Given the description of an element on the screen output the (x, y) to click on. 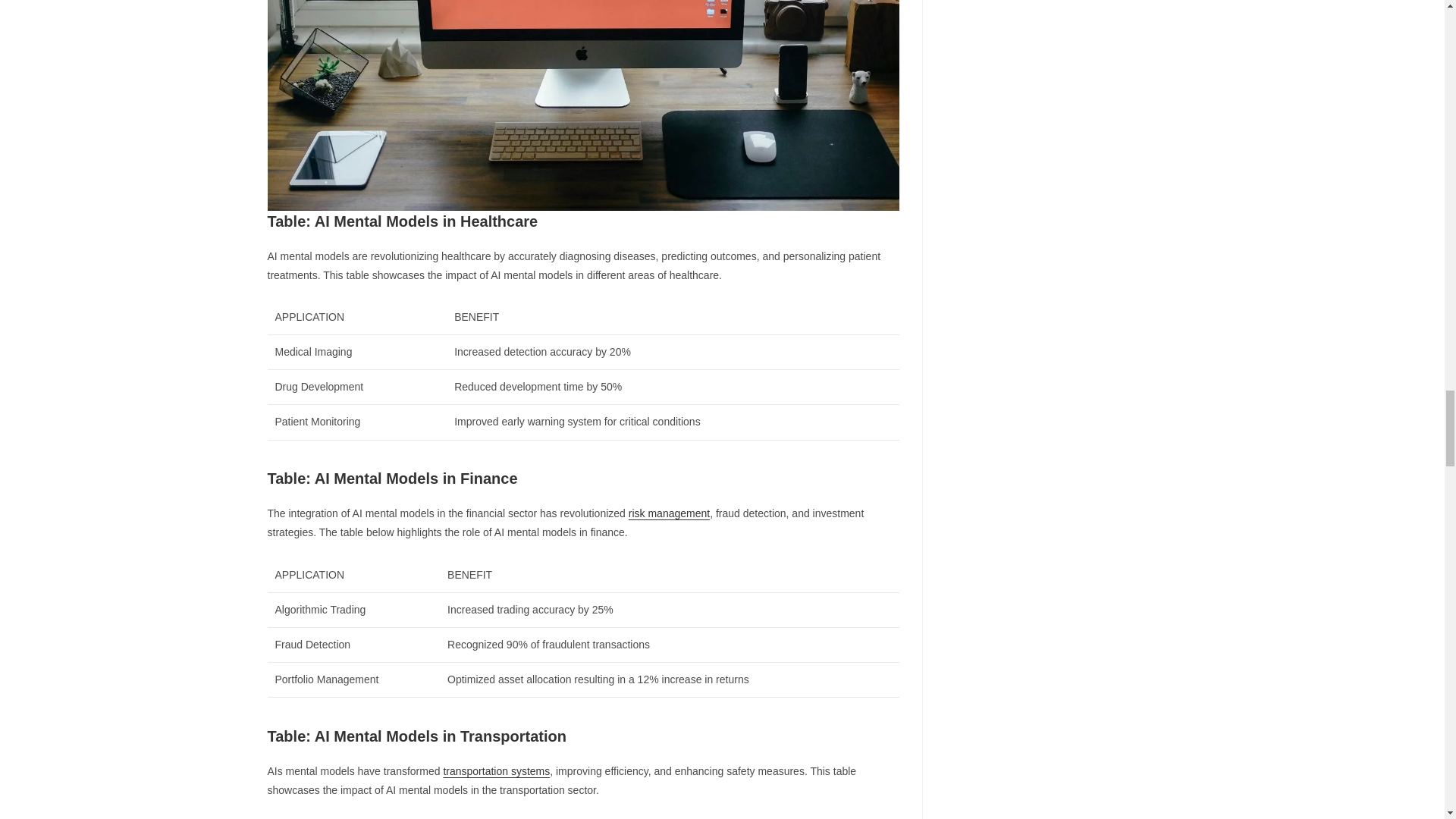
transportation systems (496, 770)
AI Mental Models (582, 105)
risk management (669, 512)
